Given the description of an element on the screen output the (x, y) to click on. 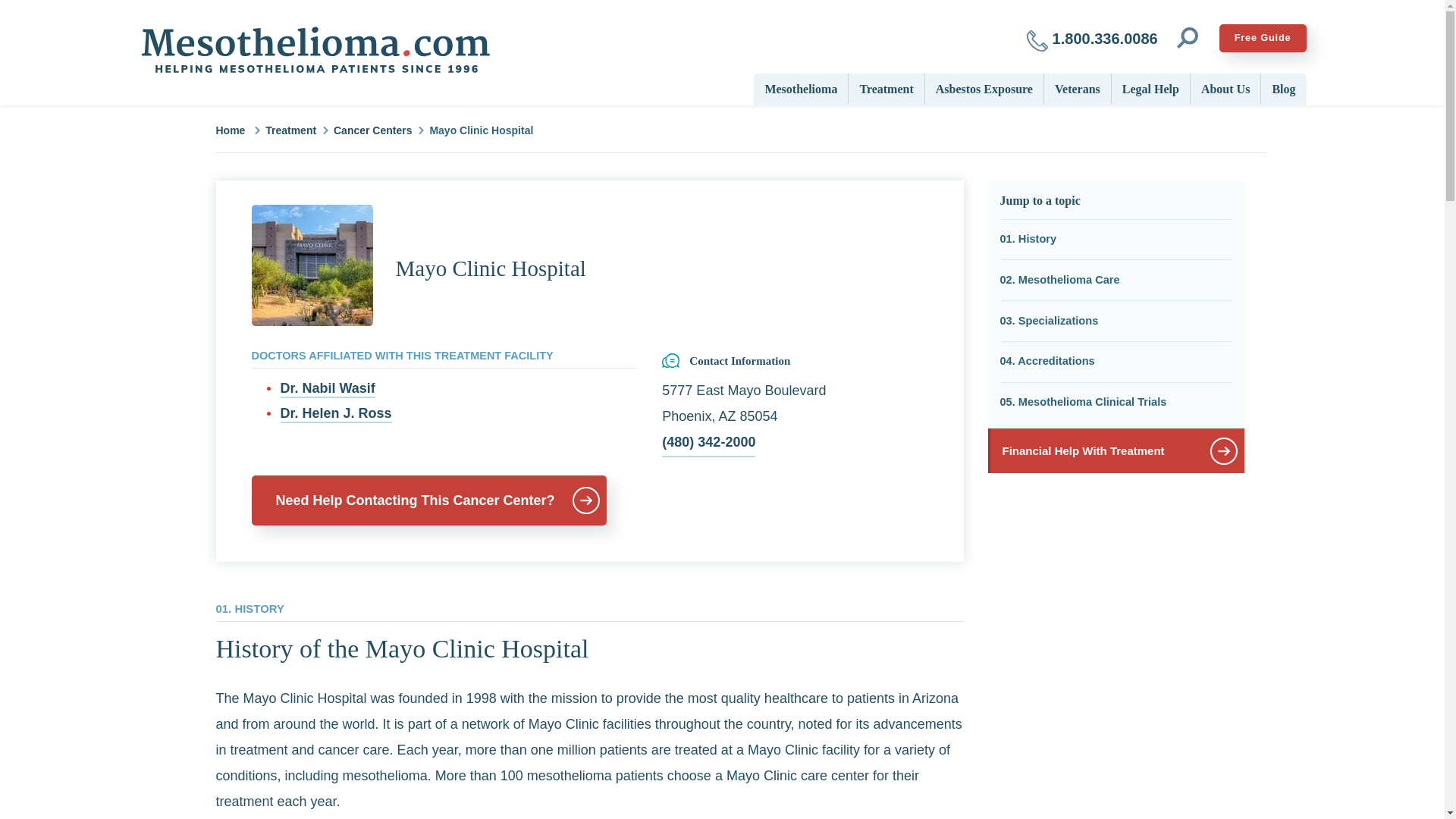
Free Guide (1263, 38)
Mesothelioma (800, 88)
Asbestos Exposure (983, 88)
1.800.336.0086 (1091, 38)
Treatment (885, 88)
Home (314, 49)
